Given the description of an element on the screen output the (x, y) to click on. 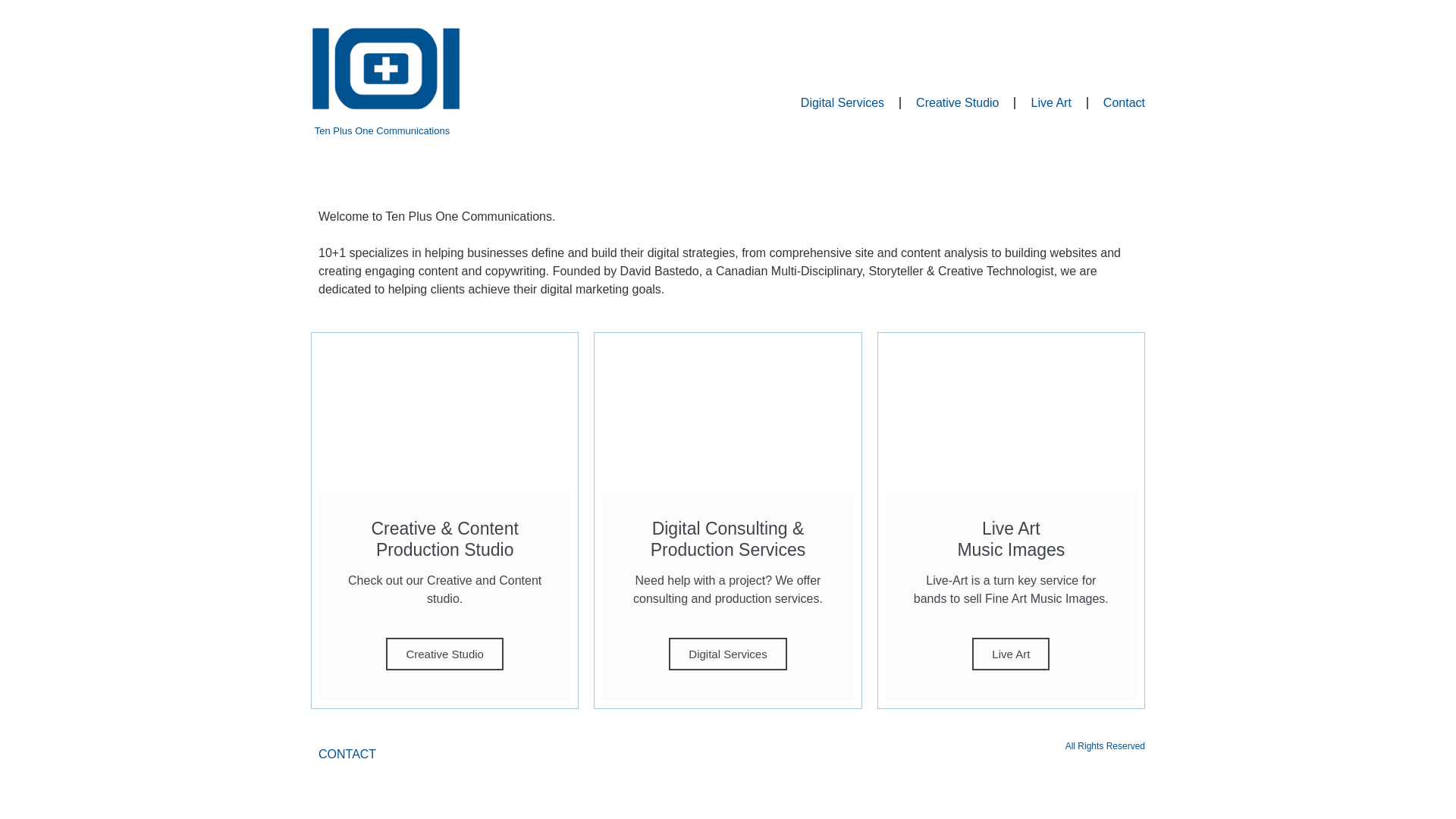
Ten Plus One Communications Element type: text (381, 130)
Digital Services Element type: text (842, 102)
Digital Services Element type: text (727, 653)
Live Art Element type: text (1010, 653)
Creative Studio Element type: text (444, 653)
CONTACT Element type: text (347, 754)
Live Art Element type: text (1050, 102)
Contact Element type: text (1124, 102)
Creative Studio Element type: text (956, 102)
